Given the description of an element on the screen output the (x, y) to click on. 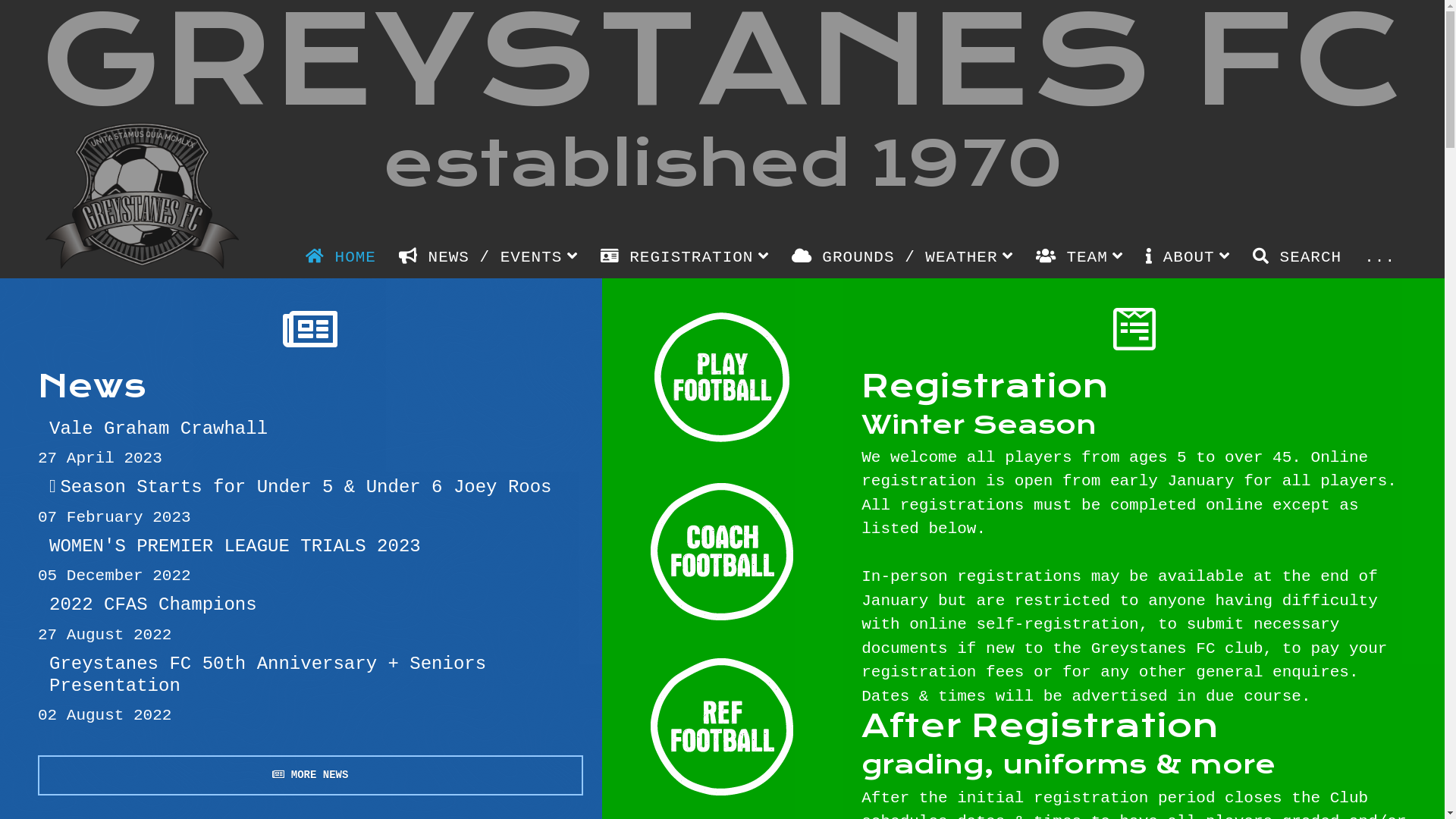
... Element type: text (1379, 258)
SEARCH Element type: text (1296, 258)
HOME Element type: text (340, 258)
TEAM Element type: text (1079, 257)
MORE NEWS Element type: text (310, 775)
ABOUT Element type: text (1187, 257)
going home Element type: hover (142, 195)
NEWS / EVENTS Element type: text (488, 257)
REGISTRATION Element type: text (684, 257)
2022 CFAS Champions Element type: text (310, 605)
GROUNDS / WEATHER Element type: text (902, 257)
Greystanes FC 50th Anniversary + Seniors Presentation Element type: text (310, 675)
Vale Graham Crawhall Element type: text (310, 429)
WOMEN'S PREMIER LEAGUE TRIALS 2023 Element type: text (310, 546)
